Given the description of an element on the screen output the (x, y) to click on. 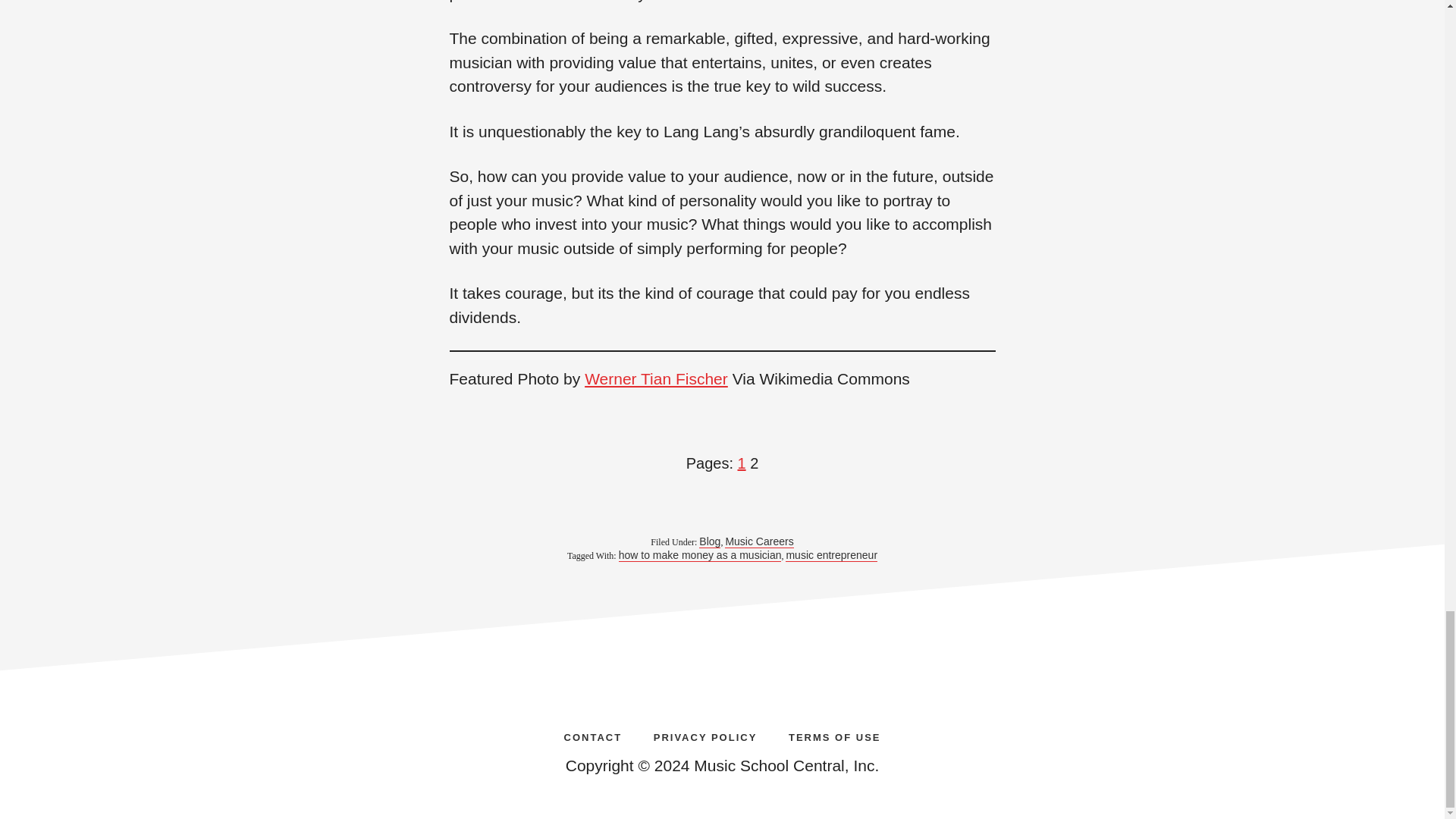
music entrepreneur (831, 554)
Music Careers (759, 541)
Werner Tian Fischer (656, 378)
Blog (709, 541)
how to make money as a musician (699, 554)
PRIVACY POLICY (705, 735)
CONTACT (593, 735)
TERMS OF USE (834, 735)
